Given the description of an element on the screen output the (x, y) to click on. 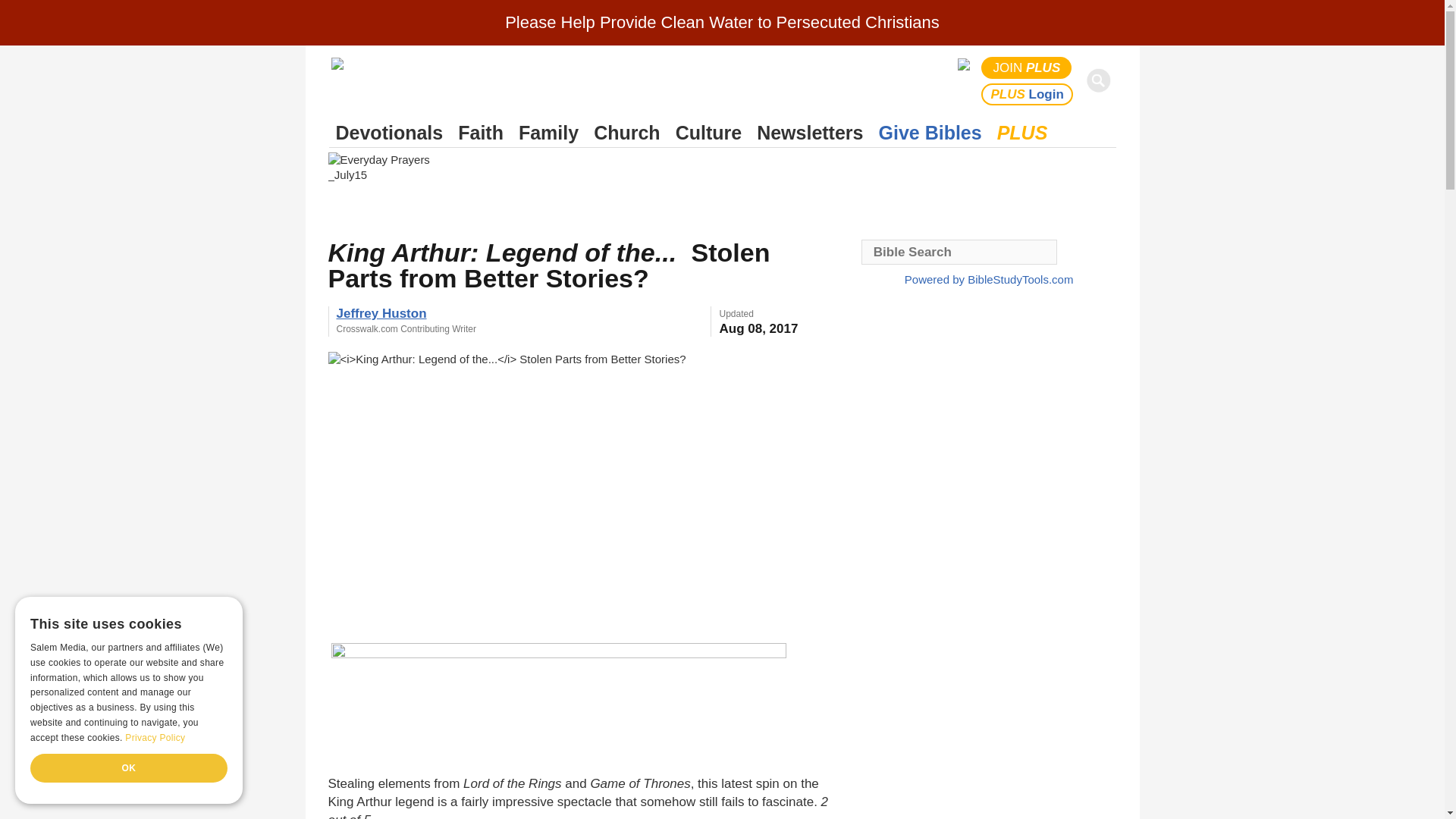
Devotionals (389, 132)
Join Plus (1026, 67)
JOIN PLUS (1026, 67)
PLUS Login (1026, 94)
Plus Login (1026, 94)
Search (1101, 80)
